Given the description of an element on the screen output the (x, y) to click on. 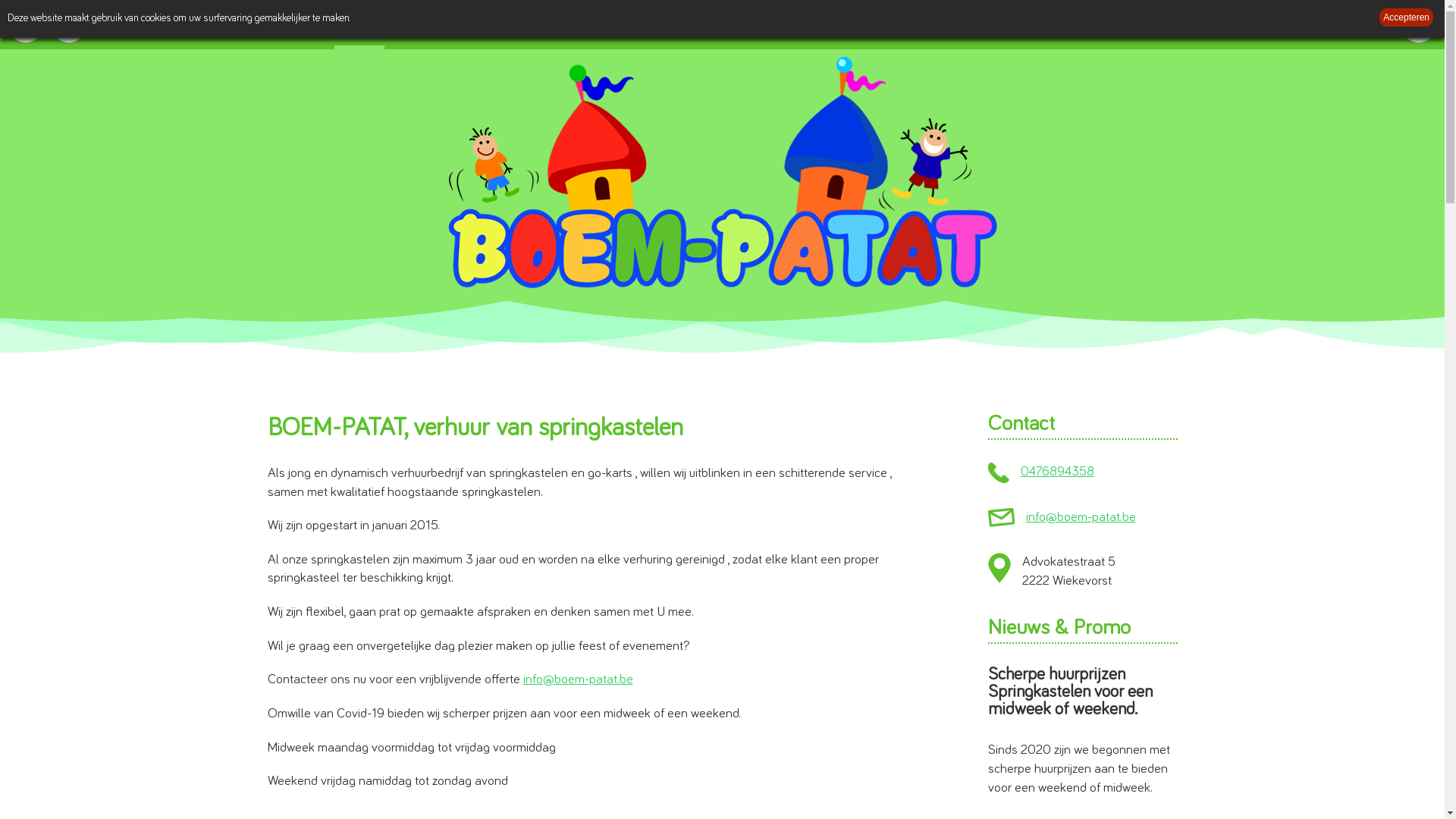
Contact Element type: text (1084, 23)
Springland Element type: text (958, 23)
Home Element type: text (362, 23)
Interactief Element type: text (517, 23)
Levering Element type: text (809, 23)
Afhaalbasis Element type: text (881, 23)
Springkastelen Element type: text (435, 23)
BMX & Go-karts Verhuur Element type: text (621, 23)
Accepteren Element type: text (1406, 17)
Nieuws Element type: text (1024, 23)
Voorwaarden Element type: text (735, 23)
info@boem-patat.be Element type: text (578, 679)
0476894358 Element type: text (1057, 471)
info@boem-patat.be Element type: text (1080, 517)
